Given the description of an element on the screen output the (x, y) to click on. 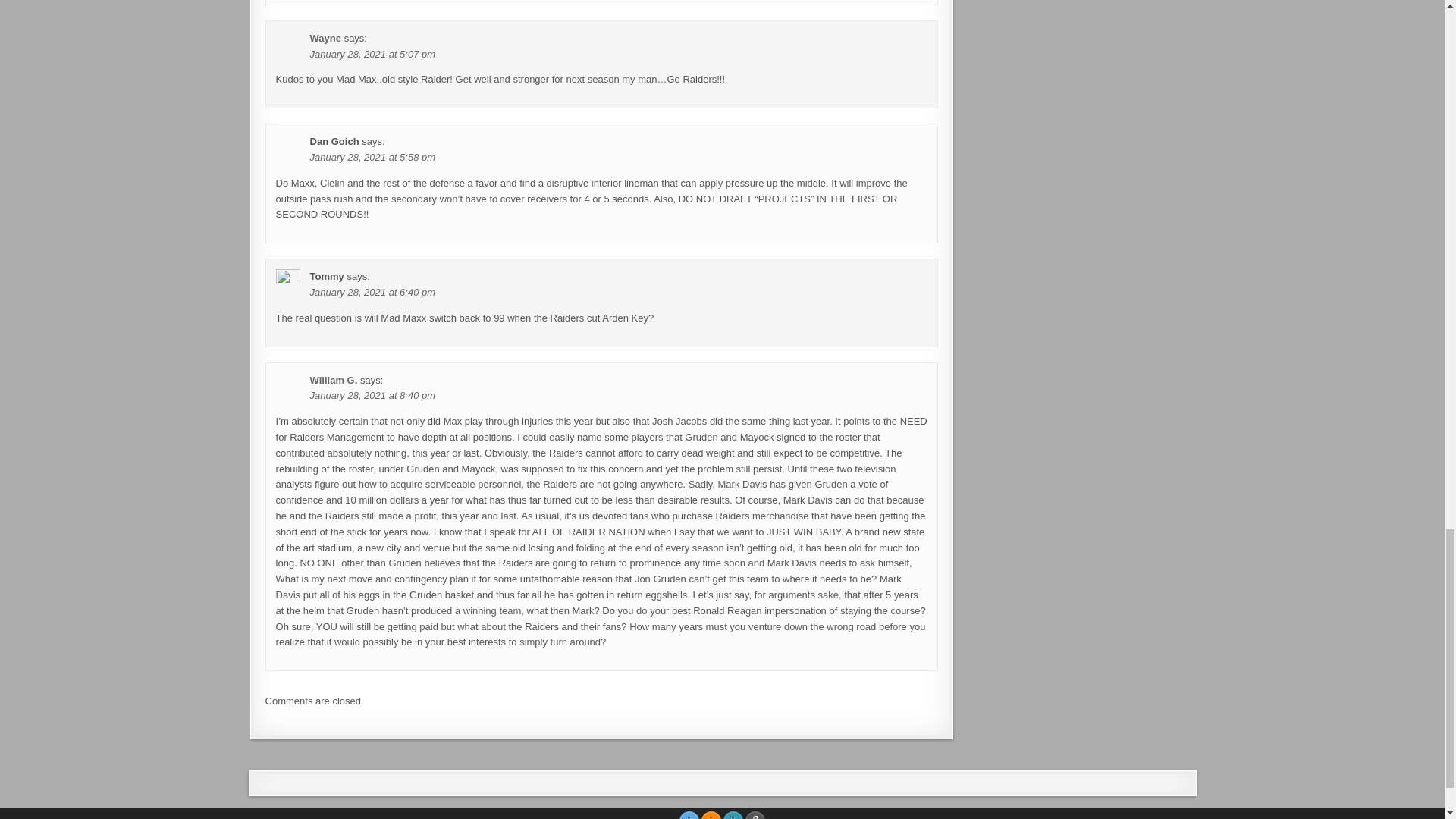
January 28, 2021 at 5:07 pm (372, 53)
Twitter (688, 815)
January 28, 2021 at 8:40 pm (372, 395)
Wayne (325, 38)
January 28, 2021 at 6:40 pm (372, 292)
William G. (334, 379)
January 28, 2021 at 5:58 pm (372, 156)
SoundCloud (710, 815)
